Given the description of an element on the screen output the (x, y) to click on. 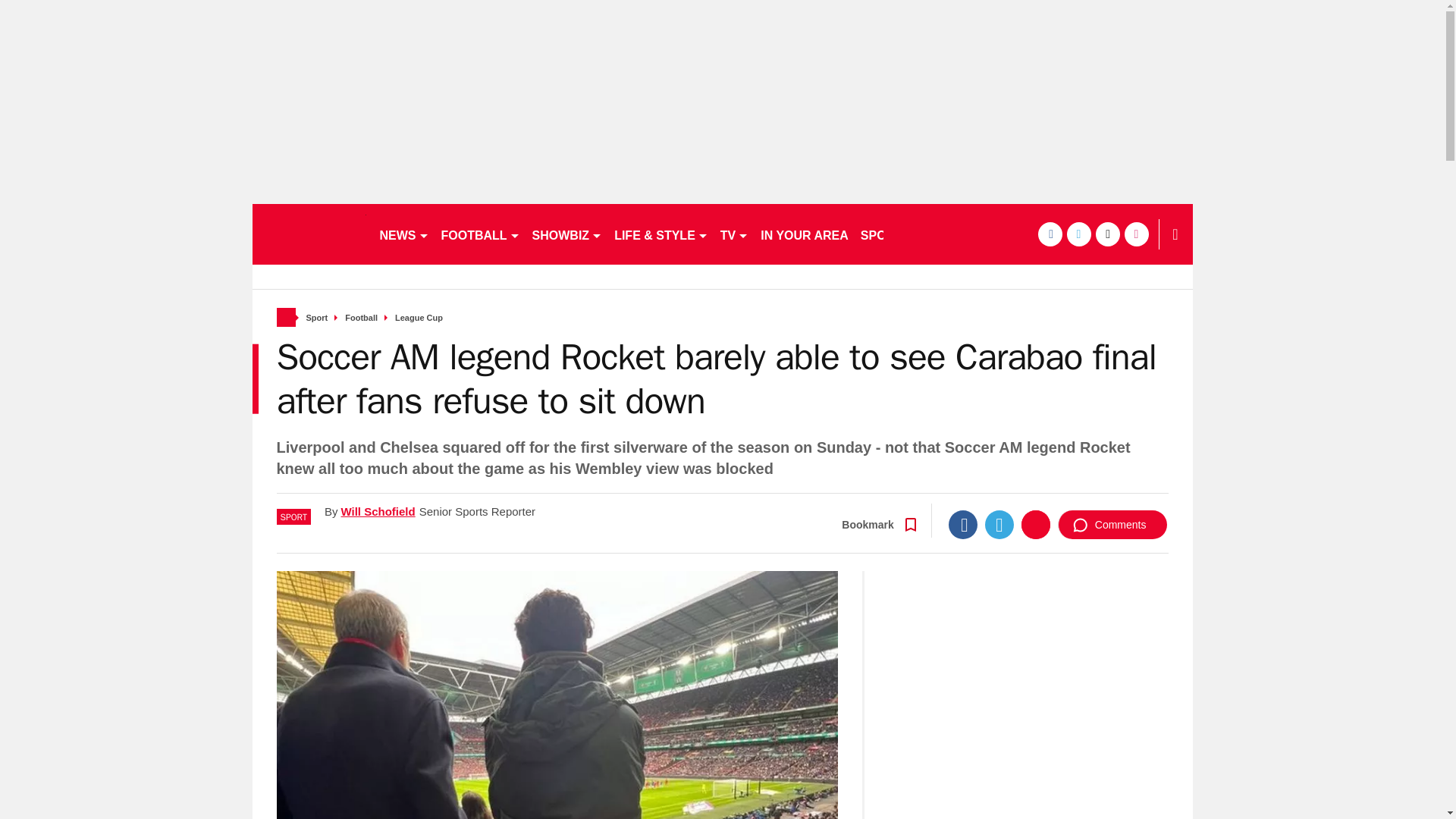
NEWS (402, 233)
Comments (1112, 524)
tiktok (1106, 233)
facebook (1048, 233)
instagram (1136, 233)
Facebook (962, 524)
SHOWBIZ (566, 233)
dailystar (308, 233)
Twitter (999, 524)
FOOTBALL (480, 233)
